Given the description of an element on the screen output the (x, y) to click on. 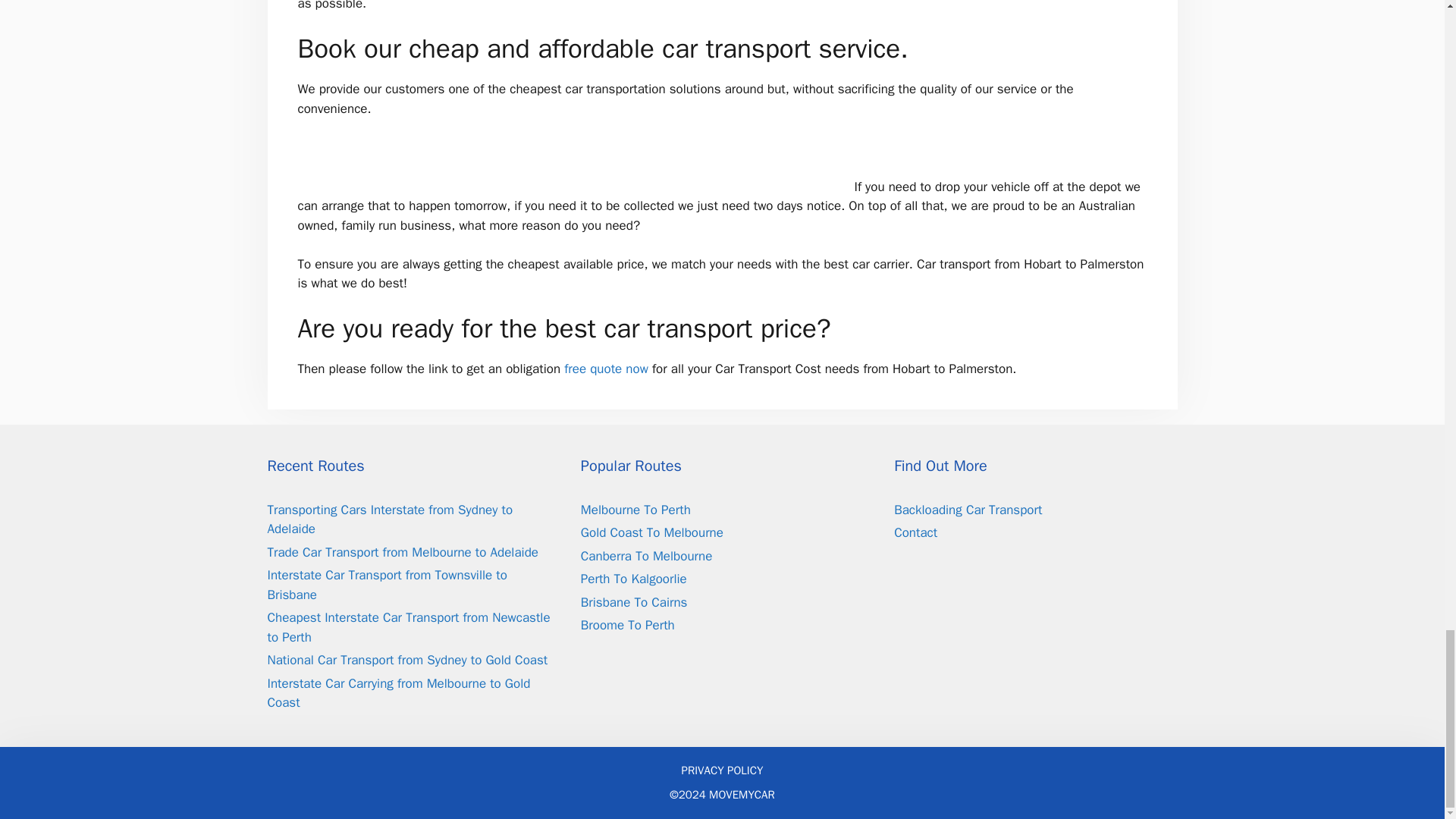
Broome To Perth (627, 625)
National Car Transport from Sydney to Gold Coast (406, 659)
Contact (915, 532)
Brisbane To Cairns (633, 602)
Interstate Car Transport from Townsville to Brisbane (386, 584)
free quote now (605, 368)
PRIVACY POLICY (721, 770)
Perth To Kalgoorlie (633, 578)
Melbourne To Perth (635, 509)
Trade Car Transport from Melbourne to Adelaide (401, 552)
